Given the description of an element on the screen output the (x, y) to click on. 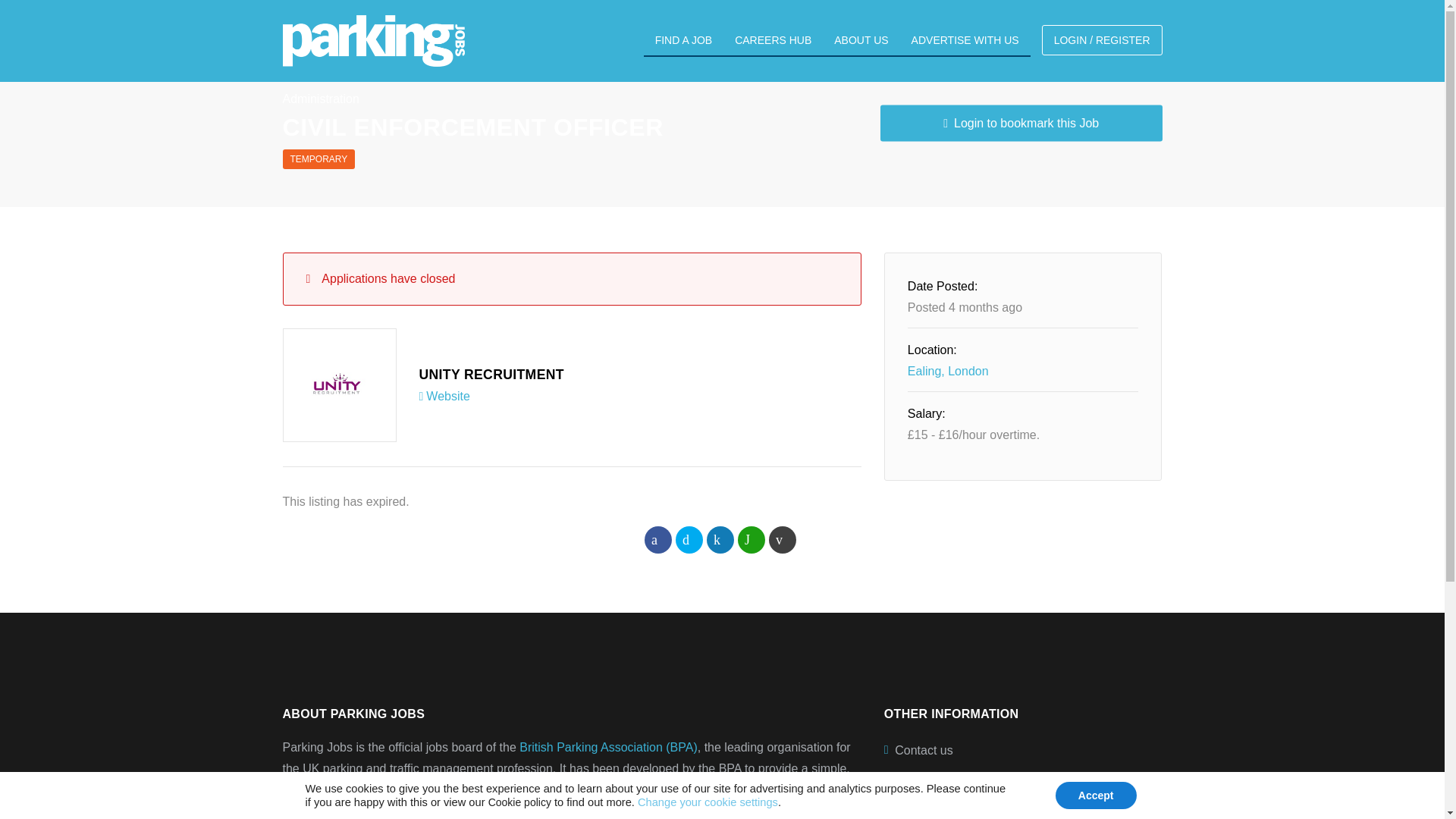
ABOUT US (860, 40)
Share on Facebook (658, 539)
Share on LinkedIn (719, 539)
Administration (320, 99)
Contact us (1022, 750)
Terms and conditions (1022, 777)
Login to bookmark this Job (1020, 122)
Share on Email (782, 539)
UNITY RECRUITMENT (491, 374)
FIND A JOB (683, 40)
ADVERTISE WITH US (964, 40)
Share on WhatsApp (751, 539)
Acceptable use policy (1022, 805)
Ealing, London (947, 370)
Cookie policy (519, 802)
